Given the description of an element on the screen output the (x, y) to click on. 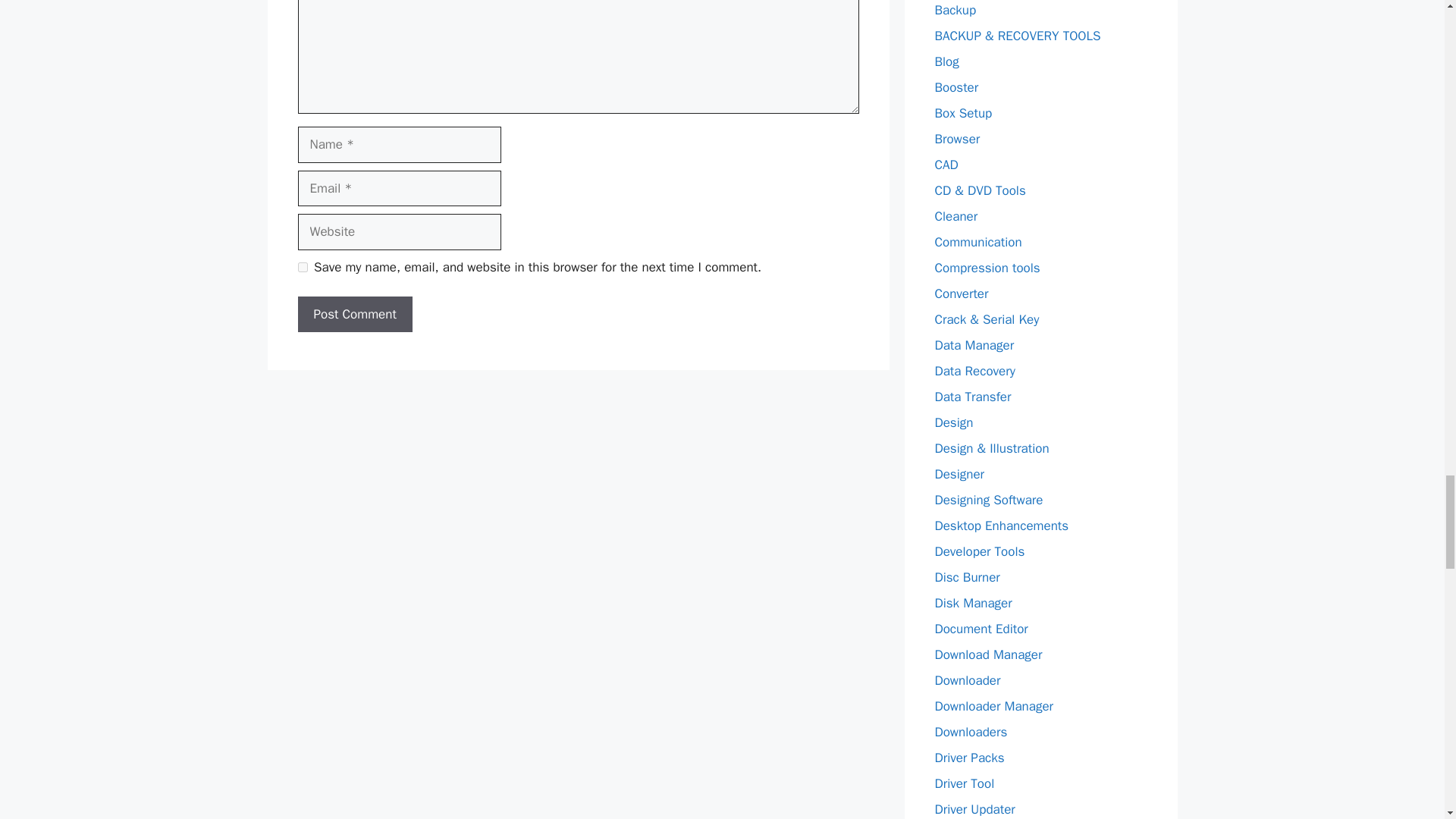
Post Comment (354, 314)
Post Comment (354, 314)
yes (302, 266)
